Given the description of an element on the screen output the (x, y) to click on. 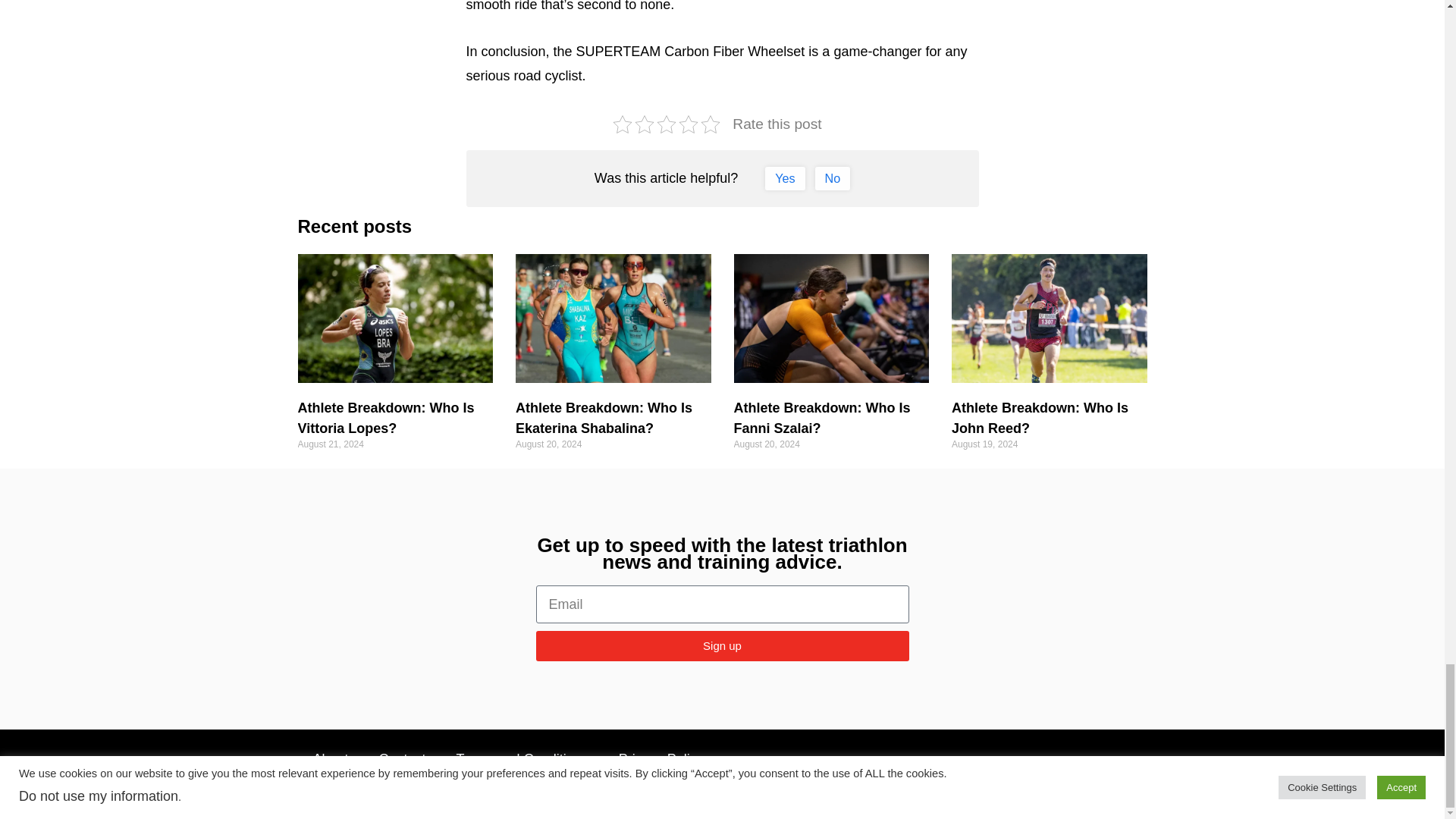
Athlete Breakdown: Who Is Fanni Szalai? (822, 417)
Athlete Breakdown: Who Is John Reed? (1040, 417)
Athlete Breakdown: Who Is Vittoria Lopes? (385, 417)
Terms and Conditions (522, 759)
Contact (402, 759)
Athlete Breakdown: Who Is Ekaterina Shabalina? (604, 417)
Privacy Policy (661, 759)
About (329, 759)
Sign up (721, 645)
